Given the description of an element on the screen output the (x, y) to click on. 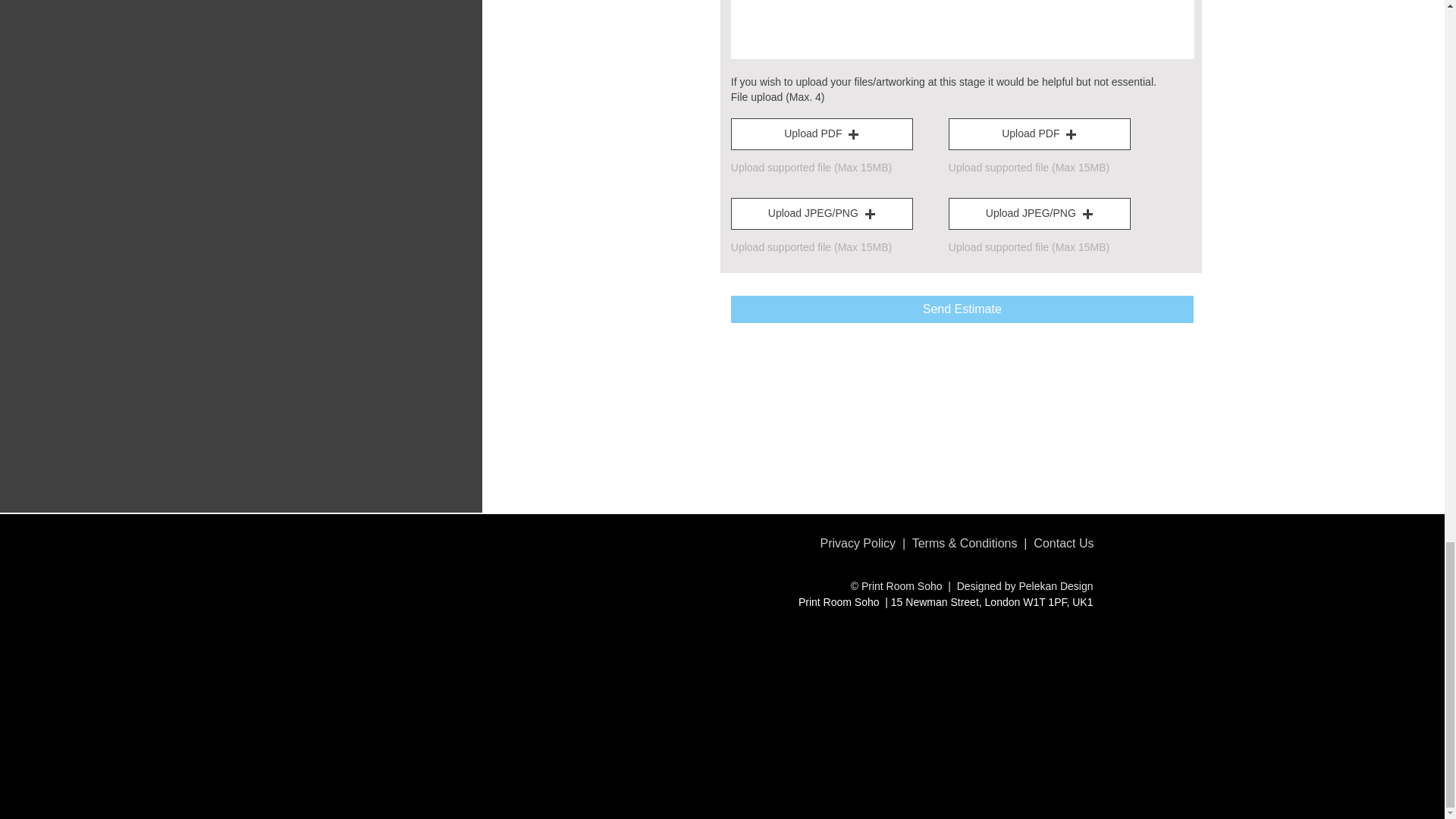
Privacy Policy (857, 543)
Send Estimate (961, 308)
Pelekan Design (1055, 585)
Contact Us (1063, 543)
